Given the description of an element on the screen output the (x, y) to click on. 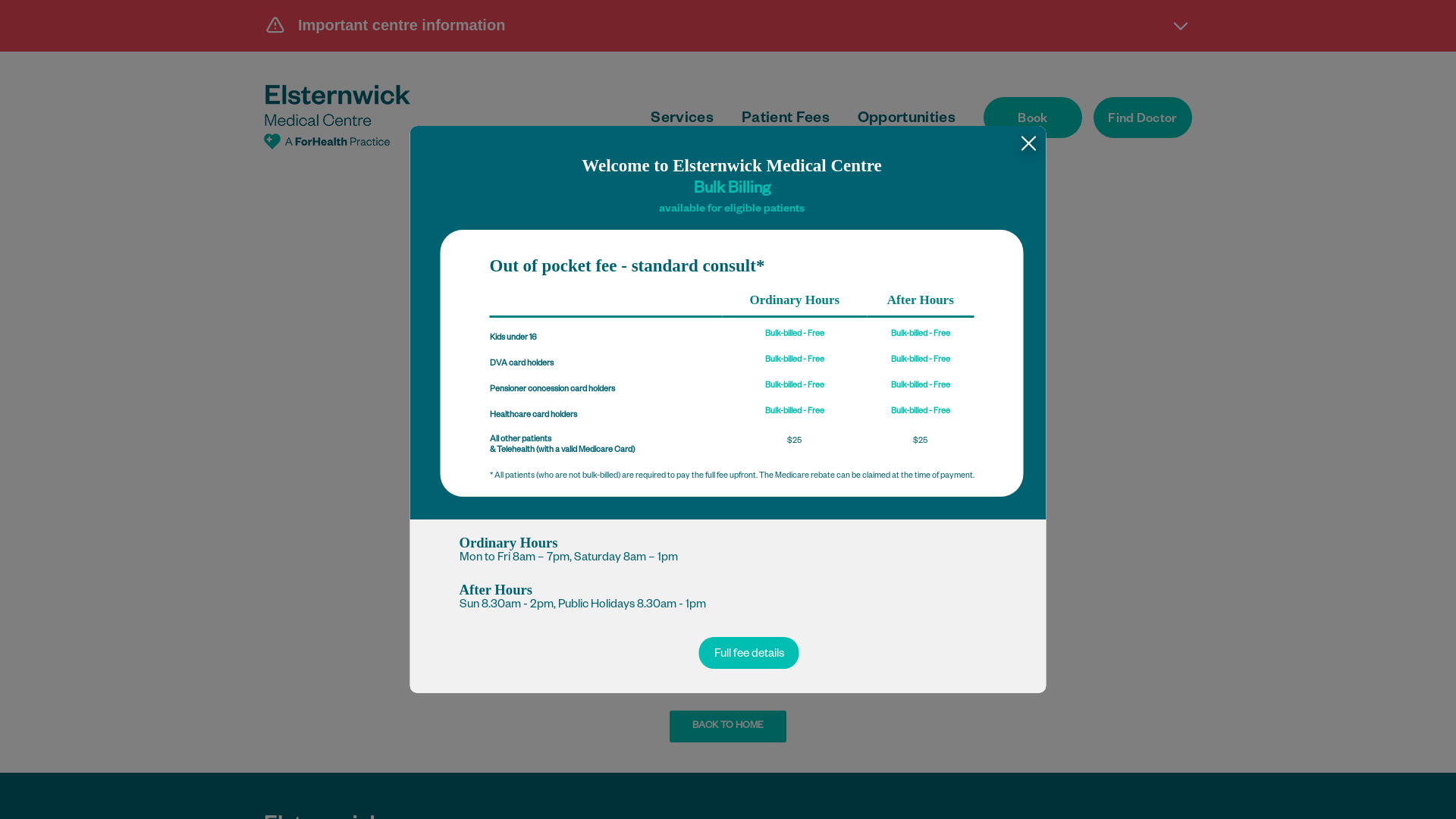
Find Doctor Element type: text (1142, 117)
Important centre information Element type: text (727, 24)
Full fee details Element type: text (749, 652)
Patient Fees Element type: text (785, 119)
BACK TO HOME Element type: text (727, 726)
Services Element type: text (681, 119)
Elsternwick Medical Centre Element type: hover (336, 116)
Book Element type: text (1032, 117)
Opportunities Element type: text (906, 119)
